Given the description of an element on the screen output the (x, y) to click on. 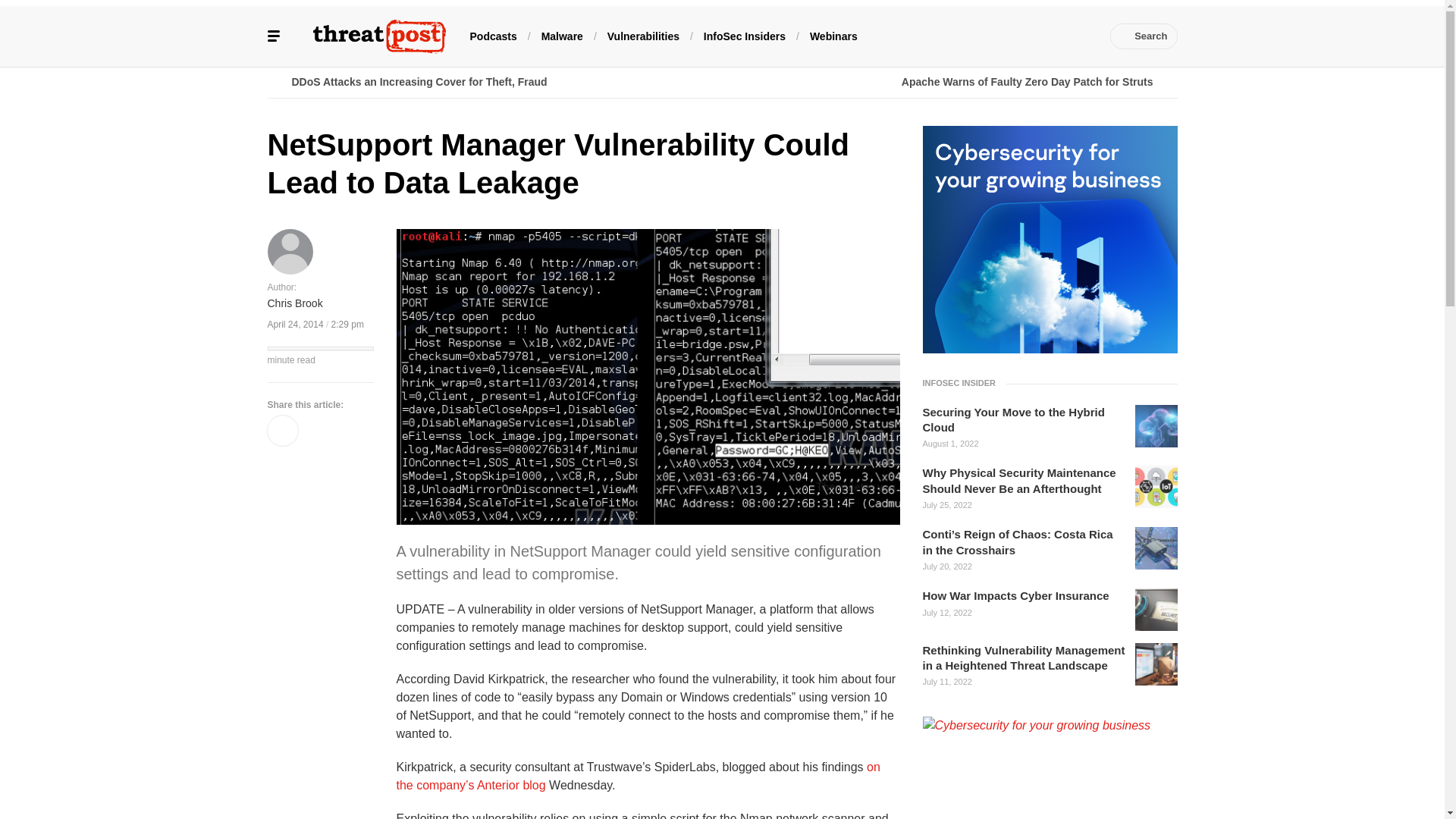
YouTube (1012, 36)
Facebook (944, 36)
DDoS Attacks an Increasing Cover for Theft, Fraud (494, 82)
Vulnerabilities (643, 35)
Apache Warns of Faulty Zero Day Patch for Struts (949, 82)
Malware (562, 35)
Feedly (1034, 36)
Threatpost (379, 36)
Securing Your Move to the Hybrid Cloud (1023, 419)
RSS (1080, 36)
InfoSec Insiders (744, 35)
Podcasts (493, 35)
Instagram (1057, 36)
LinkedIn (989, 36)
